Given the description of an element on the screen output the (x, y) to click on. 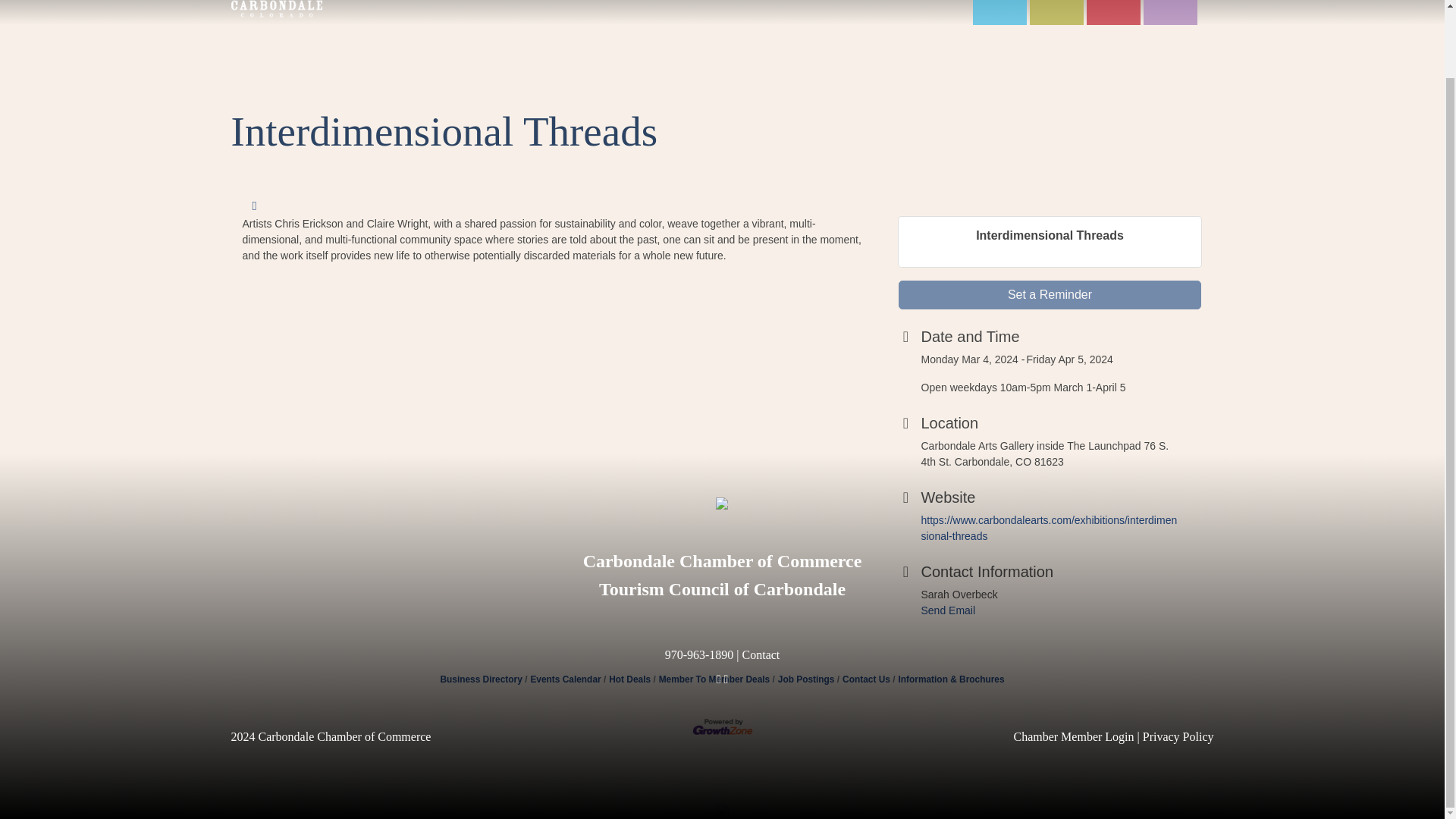
COMMERCE (602, 2)
VISIT (519, 2)
LEARN (689, 2)
